Given the description of an element on the screen output the (x, y) to click on. 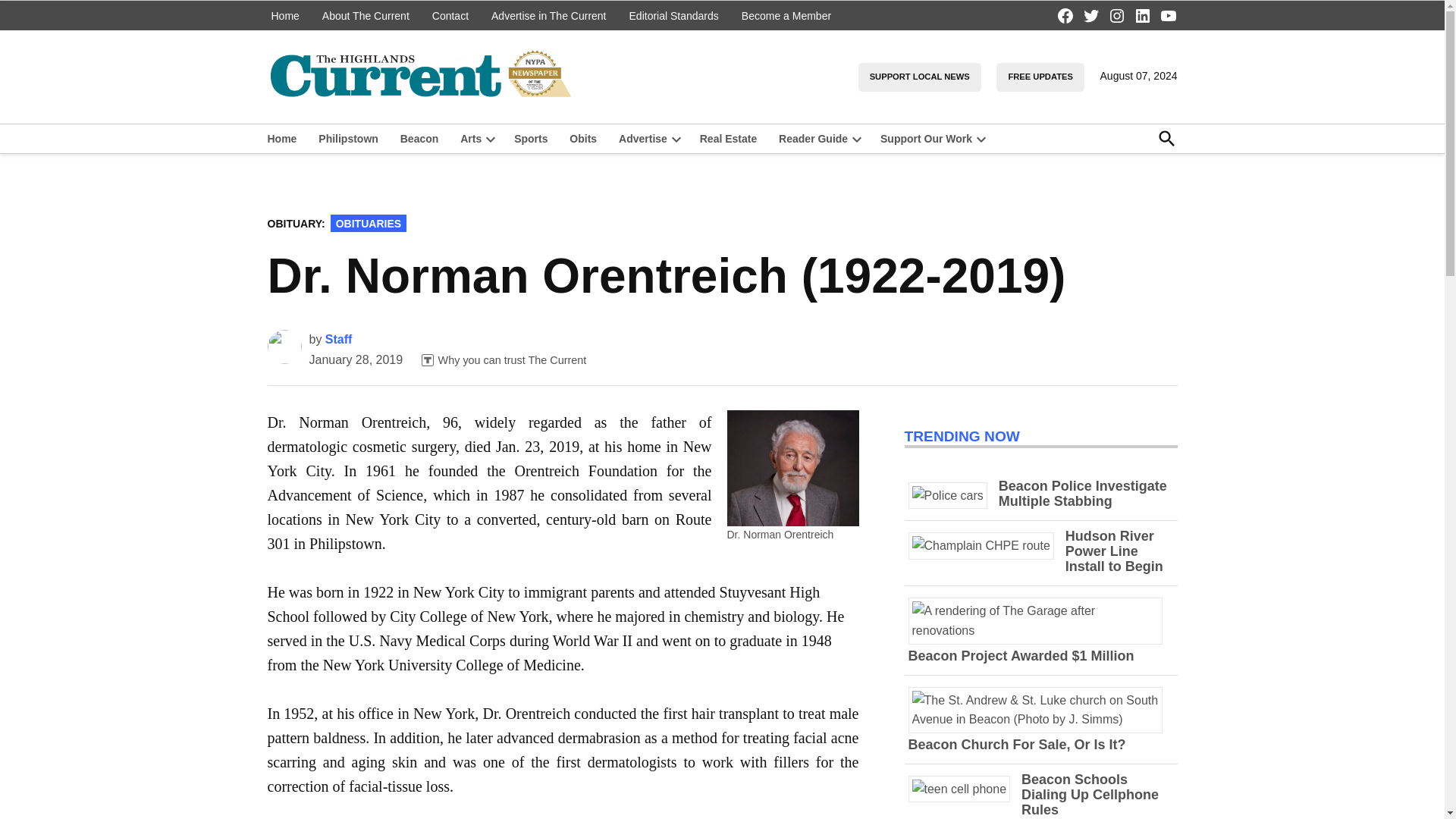
Beacon Schools Dialing Up Cellphone Rules (1090, 794)
Beacon Schools Dialing Up Cellphone Rules (965, 788)
Hudson River Power Line Install to Begin (986, 545)
Beacon Church For Sale, Or Is It? (1040, 718)
Hudson River Power Line Install to Begin (1114, 551)
Beacon Church For Sale, Or Is It? (1016, 744)
